Given the description of an element on the screen output the (x, y) to click on. 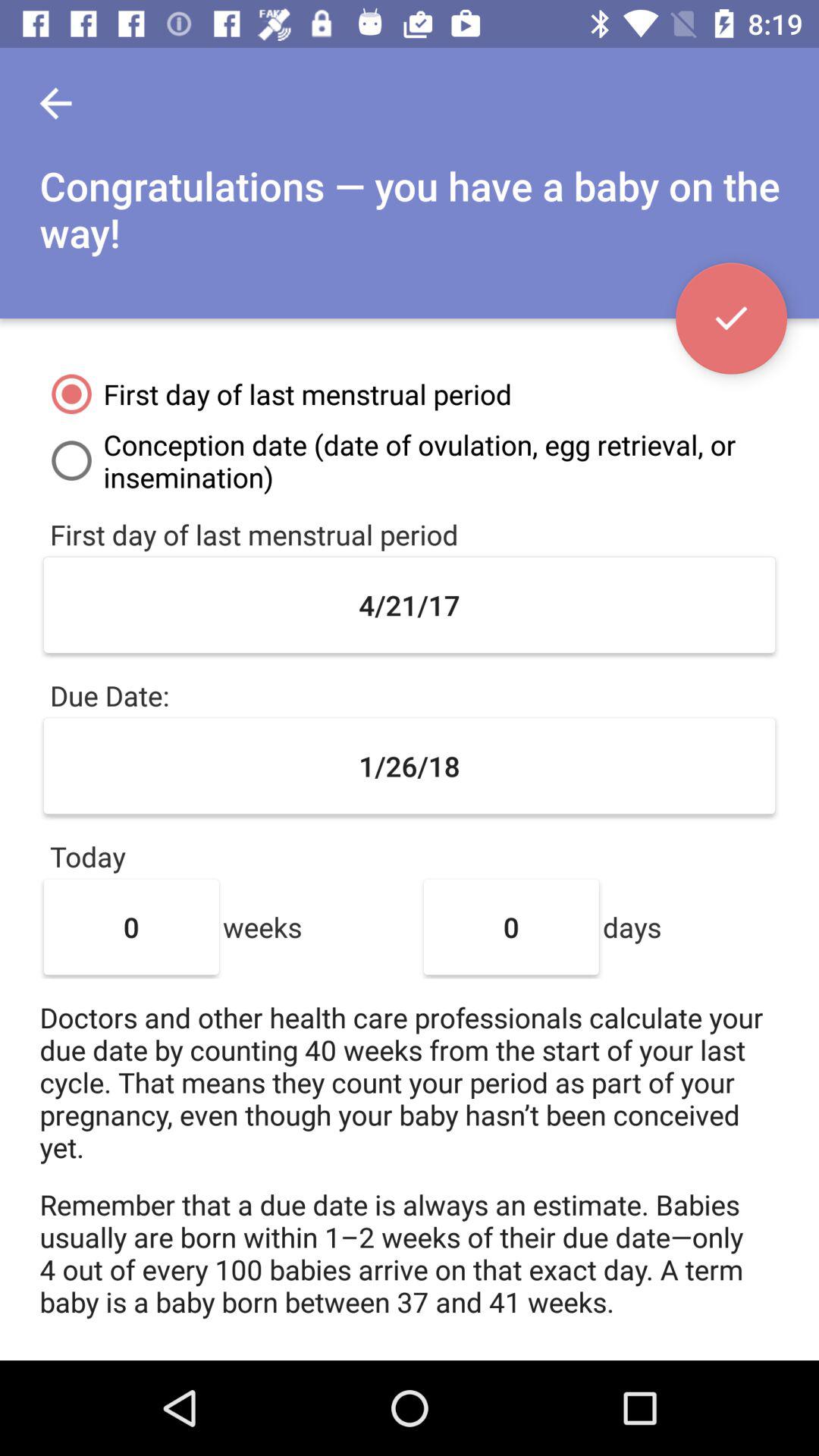
press the 1/26/18 (409, 765)
